Given the description of an element on the screen output the (x, y) to click on. 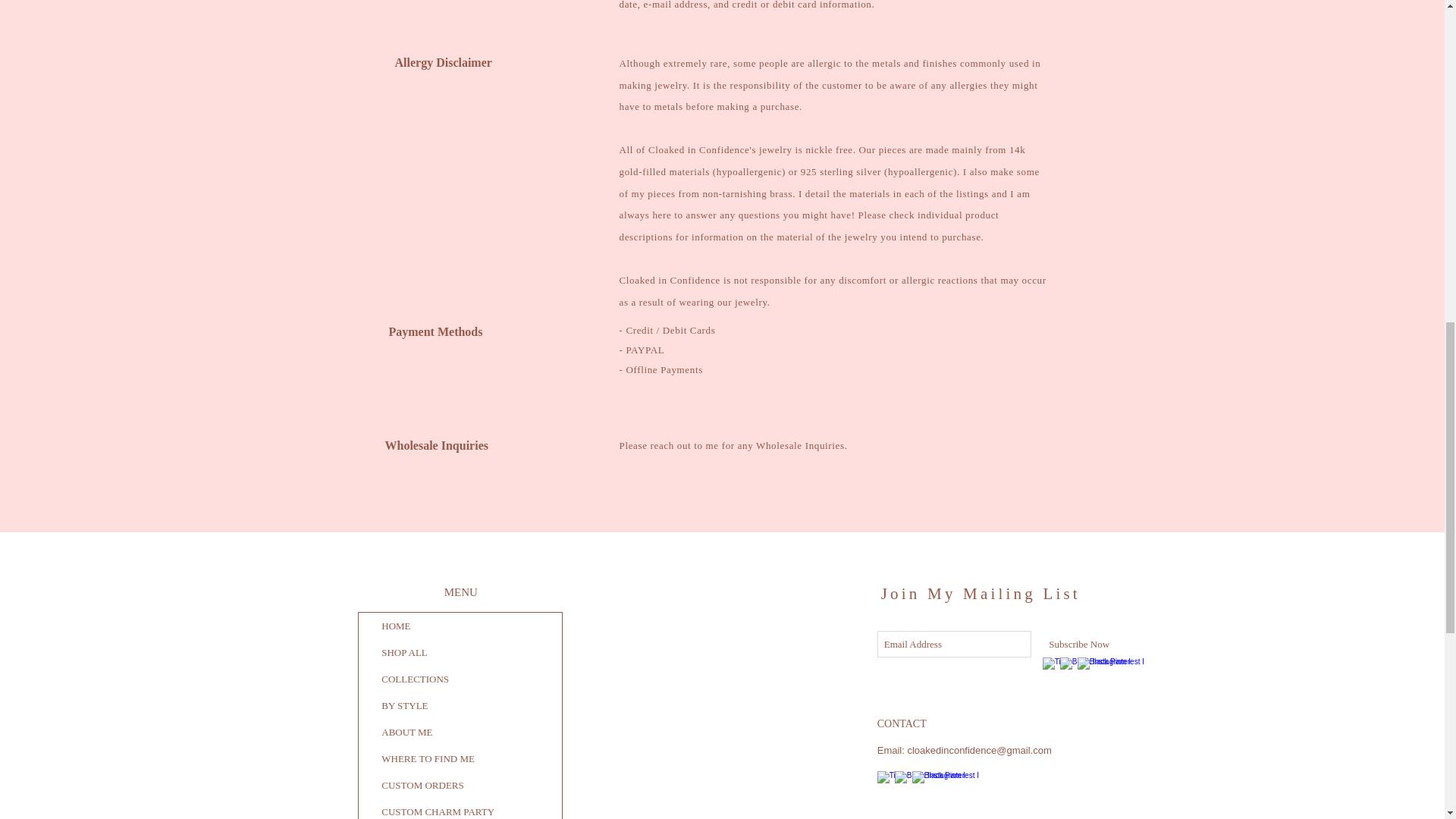
SHOP ALL (460, 652)
BY STYLE (460, 705)
COLLECTIONS (460, 678)
HOME (460, 625)
